Given the description of an element on the screen output the (x, y) to click on. 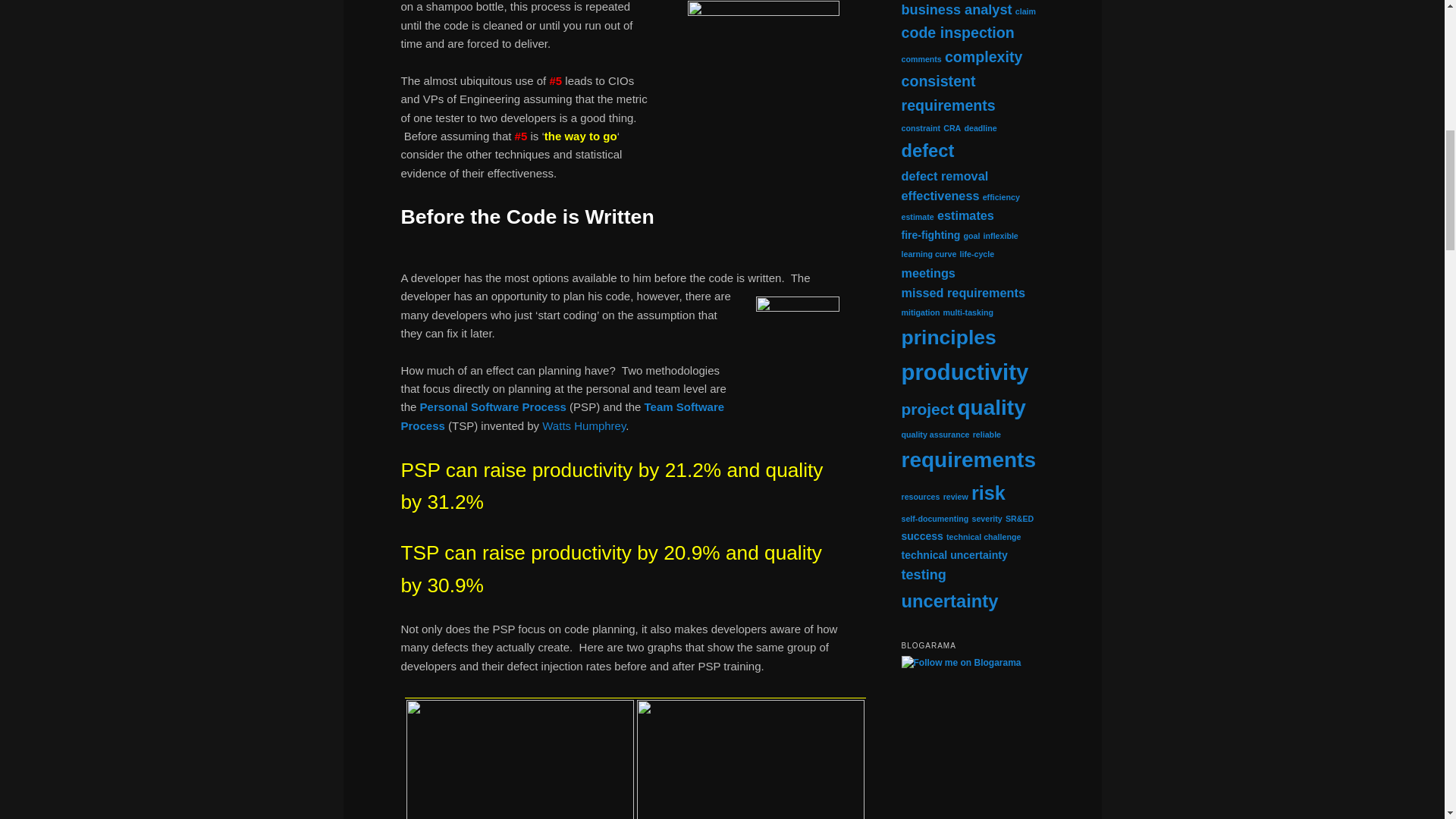
Personal Software Process (493, 406)
Team Software Process (561, 415)
Watts Humphrey (583, 425)
